Given the description of an element on the screen output the (x, y) to click on. 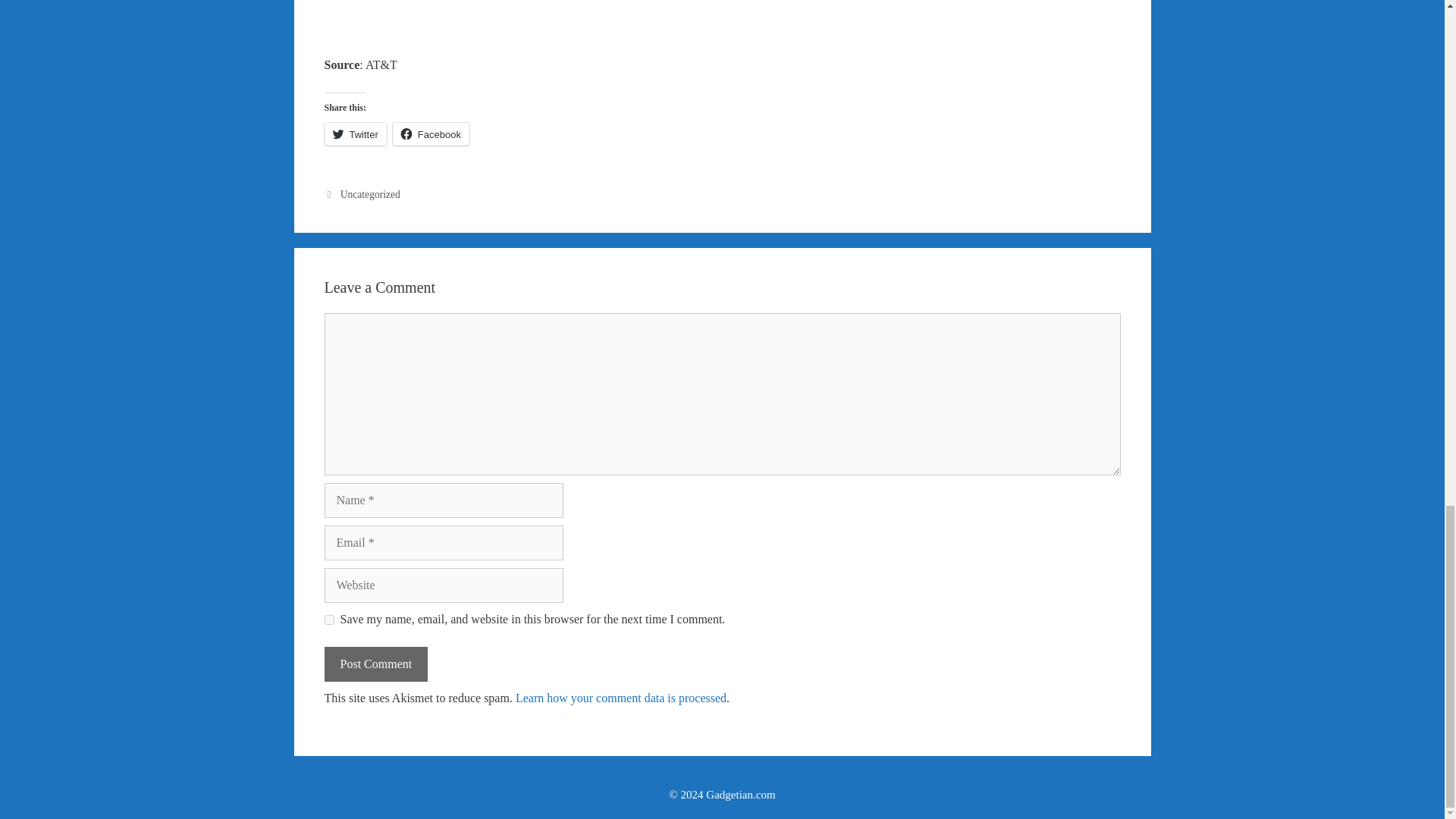
yes (329, 619)
Facebook (430, 133)
Click to share on Twitter (355, 133)
Click to share on Facebook (430, 133)
Post Comment (376, 664)
Sony Tablet P (722, 16)
Uncategorized (370, 194)
Learn how your comment data is processed (620, 697)
Twitter (355, 133)
Post Comment (376, 664)
